Given the description of an element on the screen output the (x, y) to click on. 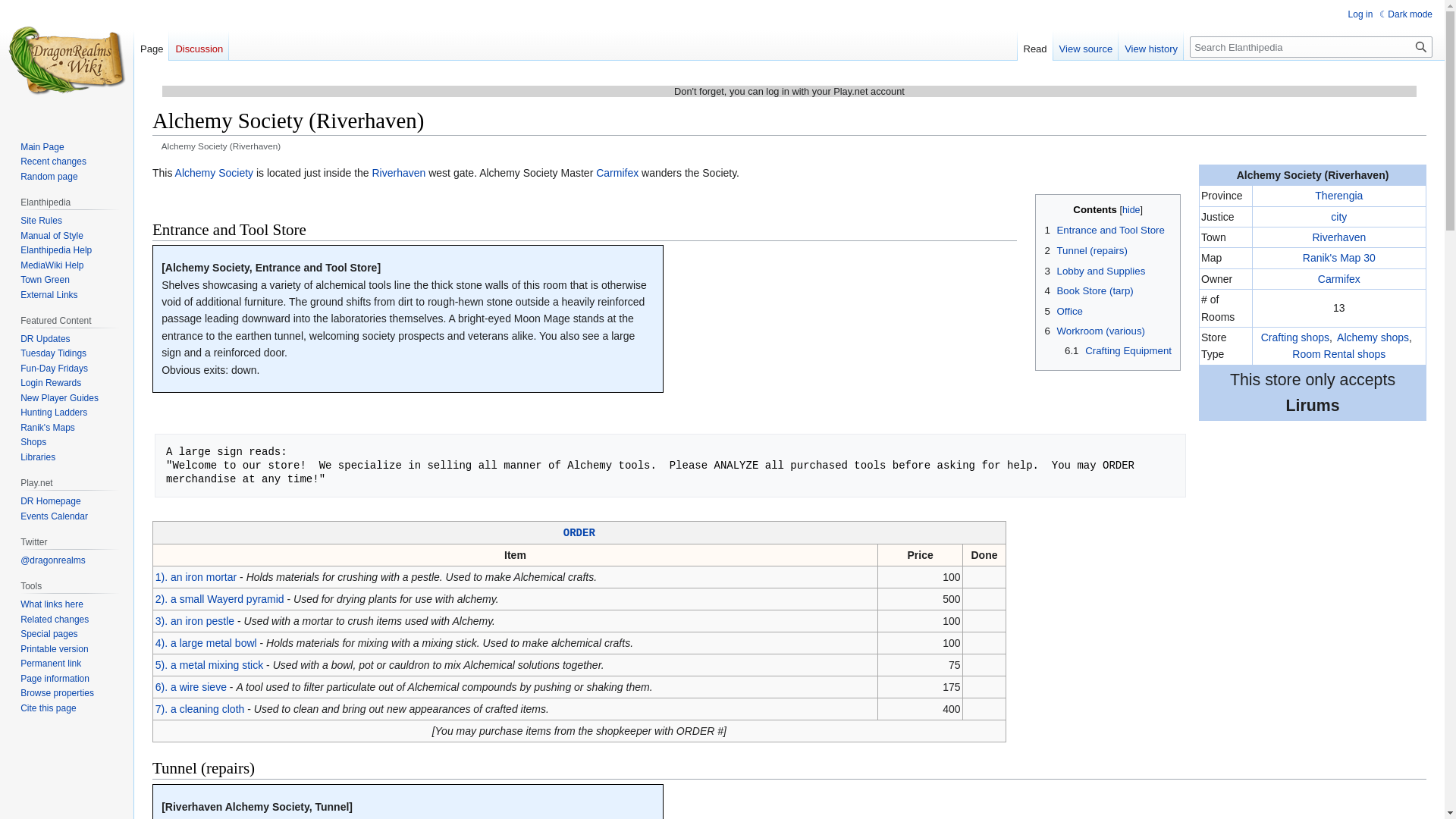
1 Entrance and Tool Store (1104, 229)
Category:Room Rental shops (1339, 354)
Item:Large metal bowl (206, 643)
Item:Wire sieve (191, 686)
Justice (1338, 216)
Riverhaven (1338, 236)
Go (1420, 46)
3 Lobby and Supplies (1094, 270)
RanikMap30 (1339, 257)
